Given the description of an element on the screen output the (x, y) to click on. 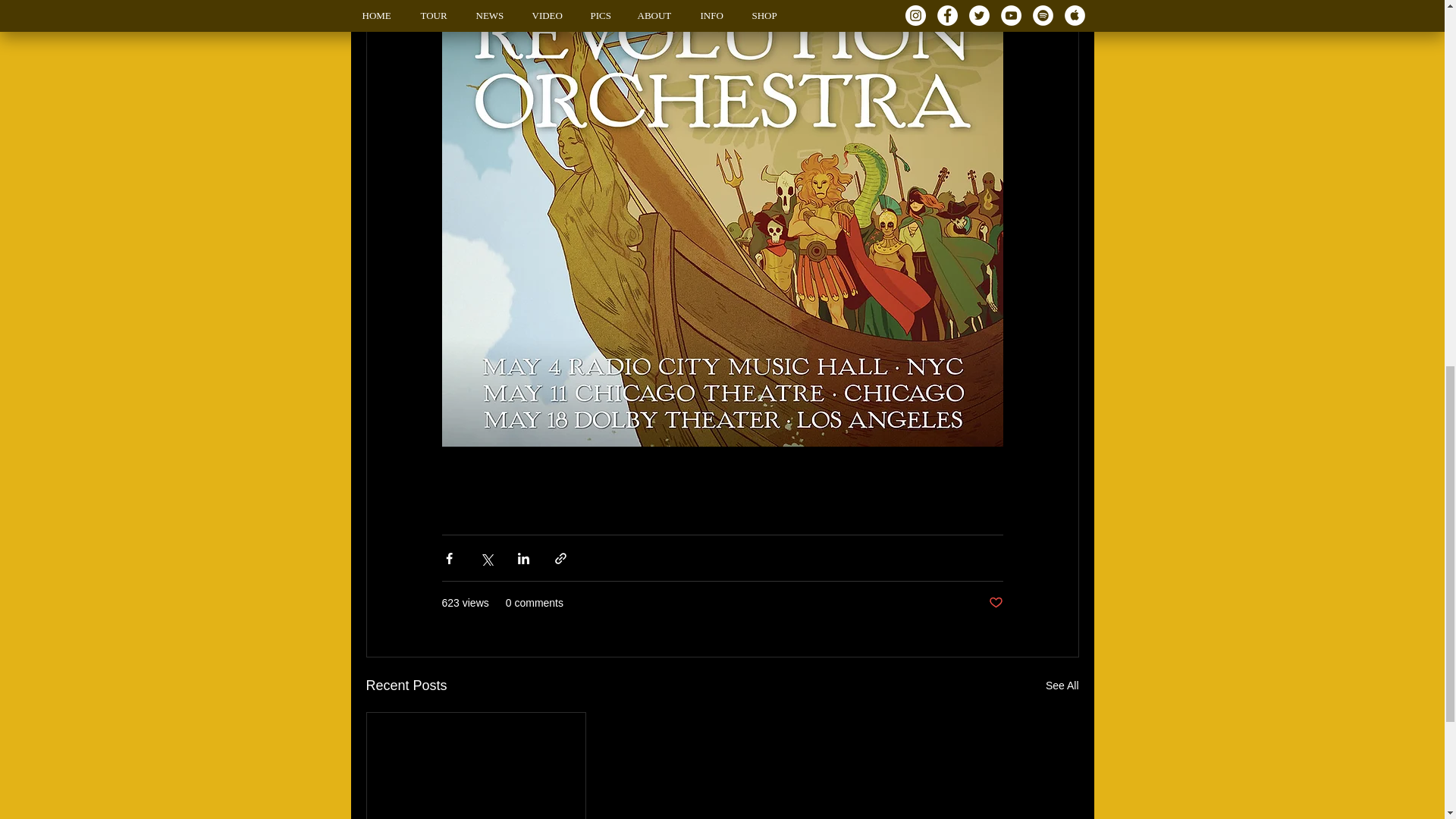
See All (1061, 685)
Post not marked as liked (995, 602)
